Given the description of an element on the screen output the (x, y) to click on. 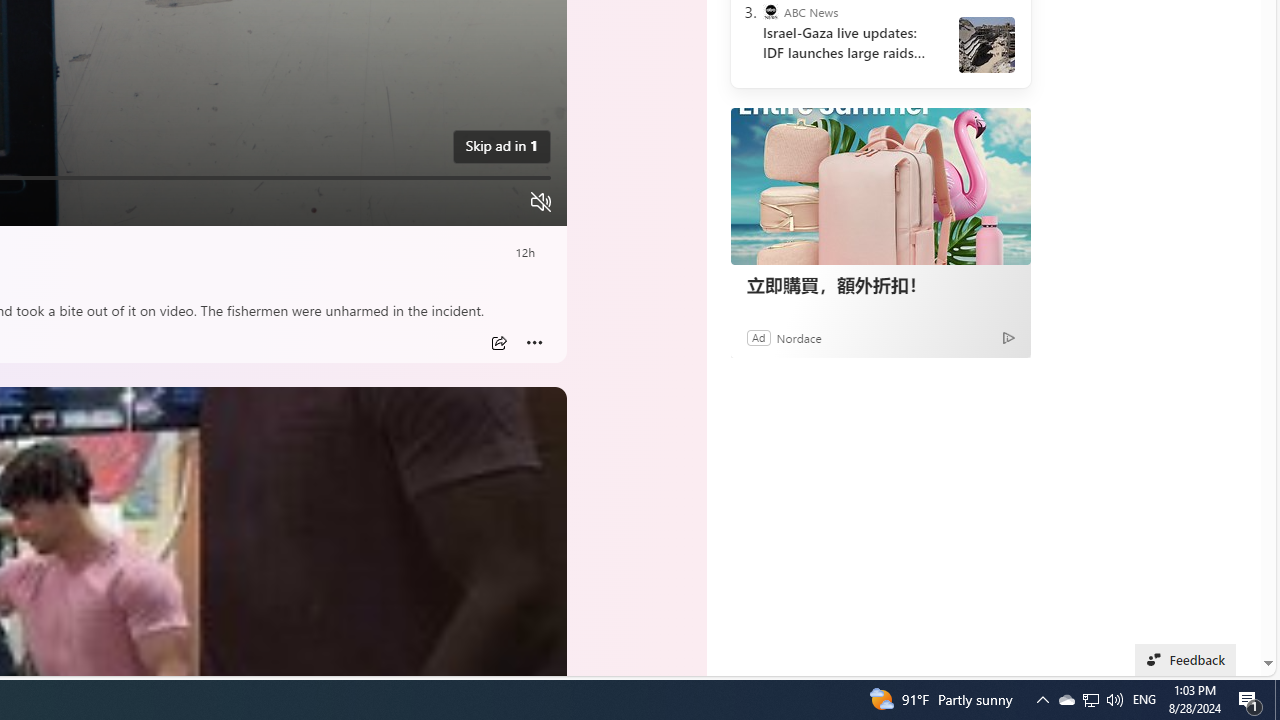
ABC News (770, 12)
